Given the description of an element on the screen output the (x, y) to click on. 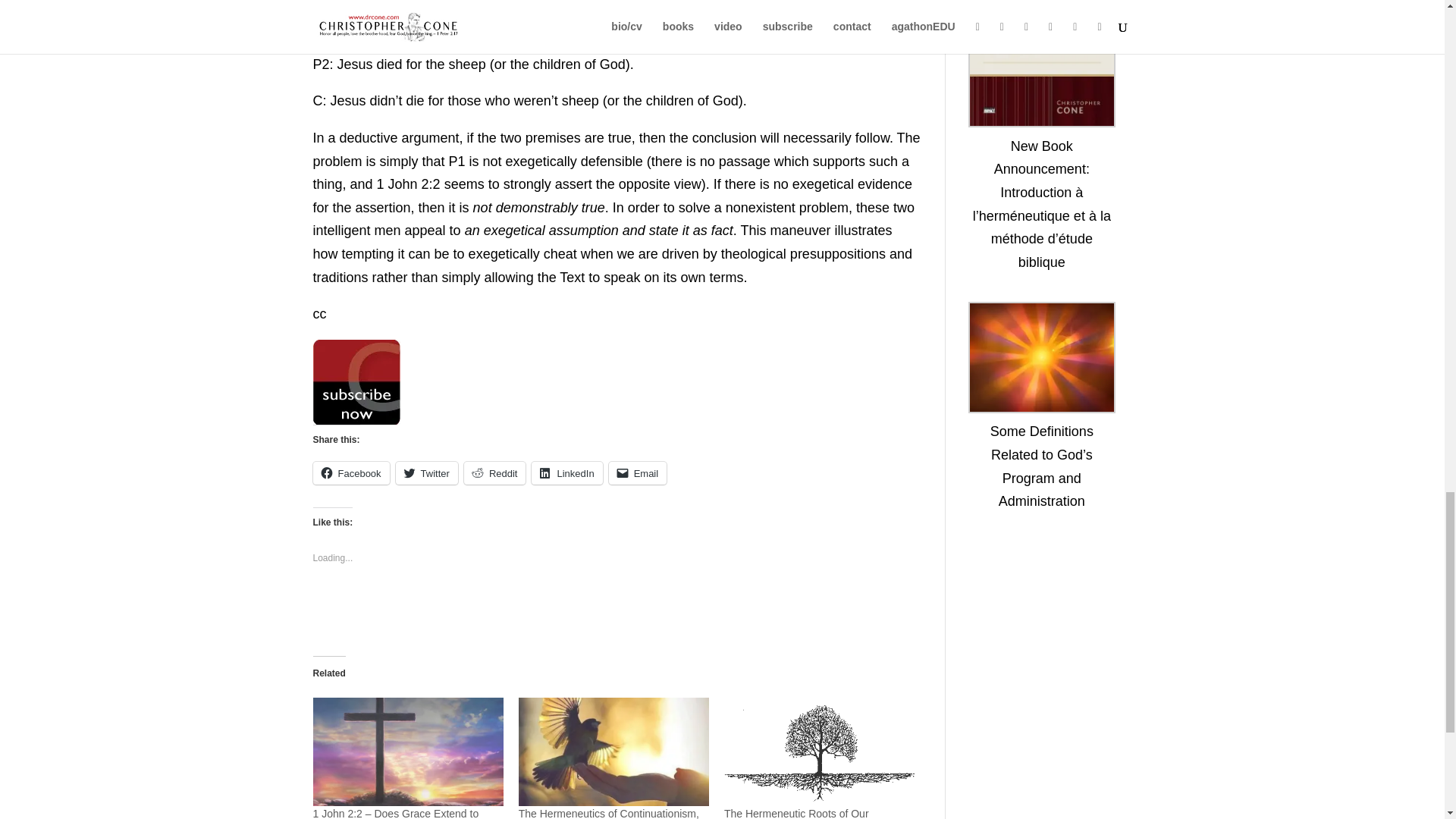
Reddit (494, 472)
LinkedIn (566, 472)
Facebook (350, 472)
Email (637, 472)
Twitter (427, 472)
